Given the description of an element on the screen output the (x, y) to click on. 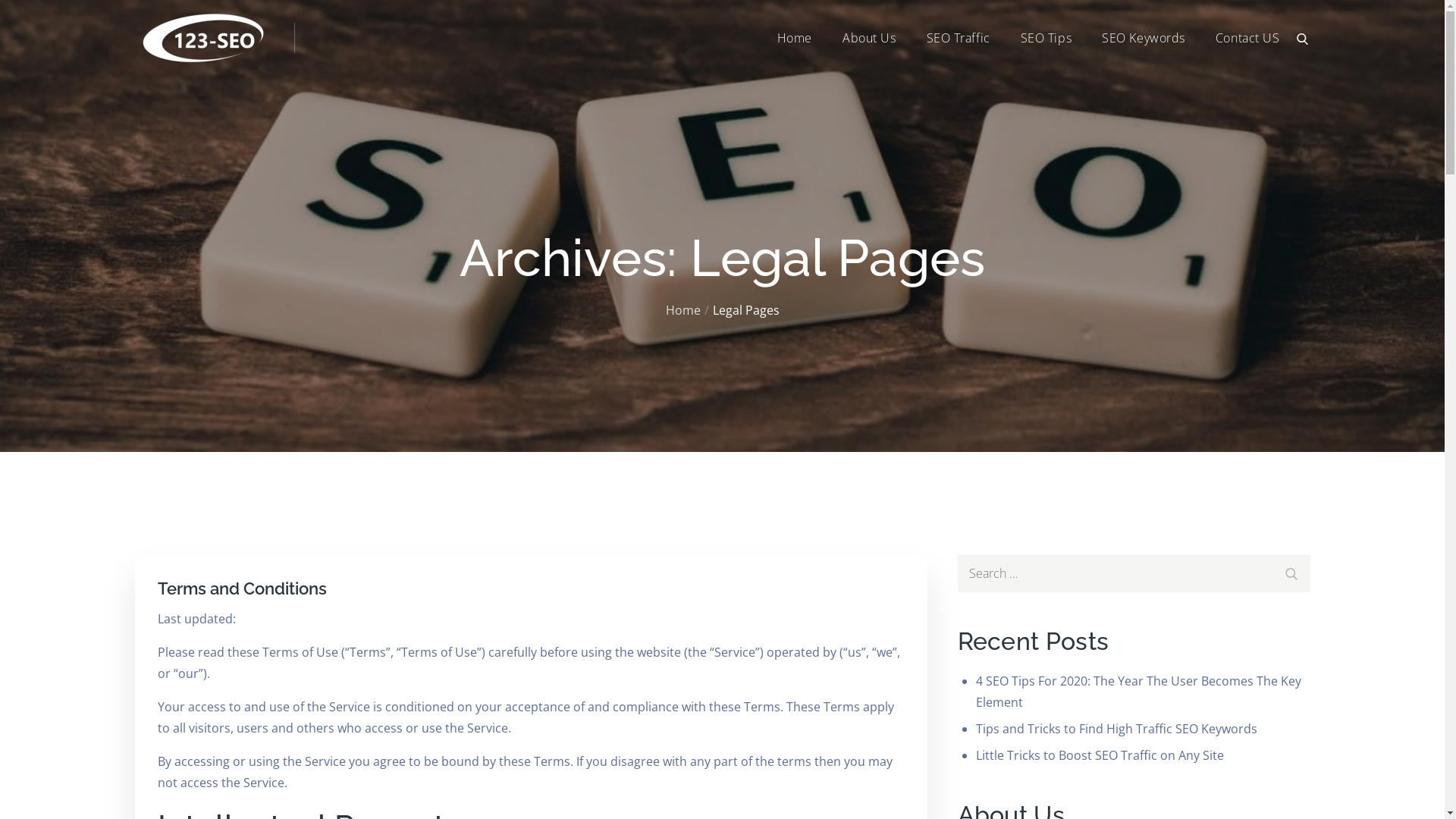
Home Element type: text (794, 37)
123-SEO Element type: text (318, 49)
Terms and Conditions Element type: text (241, 588)
About Us Element type: text (868, 37)
SEO Keywords Element type: text (1143, 37)
Skip to content Element type: text (0, 0)
Home Element type: text (682, 309)
Contact US Element type: text (1247, 37)
SEO Traffic Element type: text (958, 37)
Home Element type: text (17, 467)
Search Element type: text (1291, 571)
SEO Tips Element type: text (1045, 37)
Tips and Tricks to Find High Traffic SEO Keywords Element type: text (1115, 728)
Little Tricks to Boost SEO Traffic on Any Site Element type: text (1099, 754)
